Given the description of an element on the screen output the (x, y) to click on. 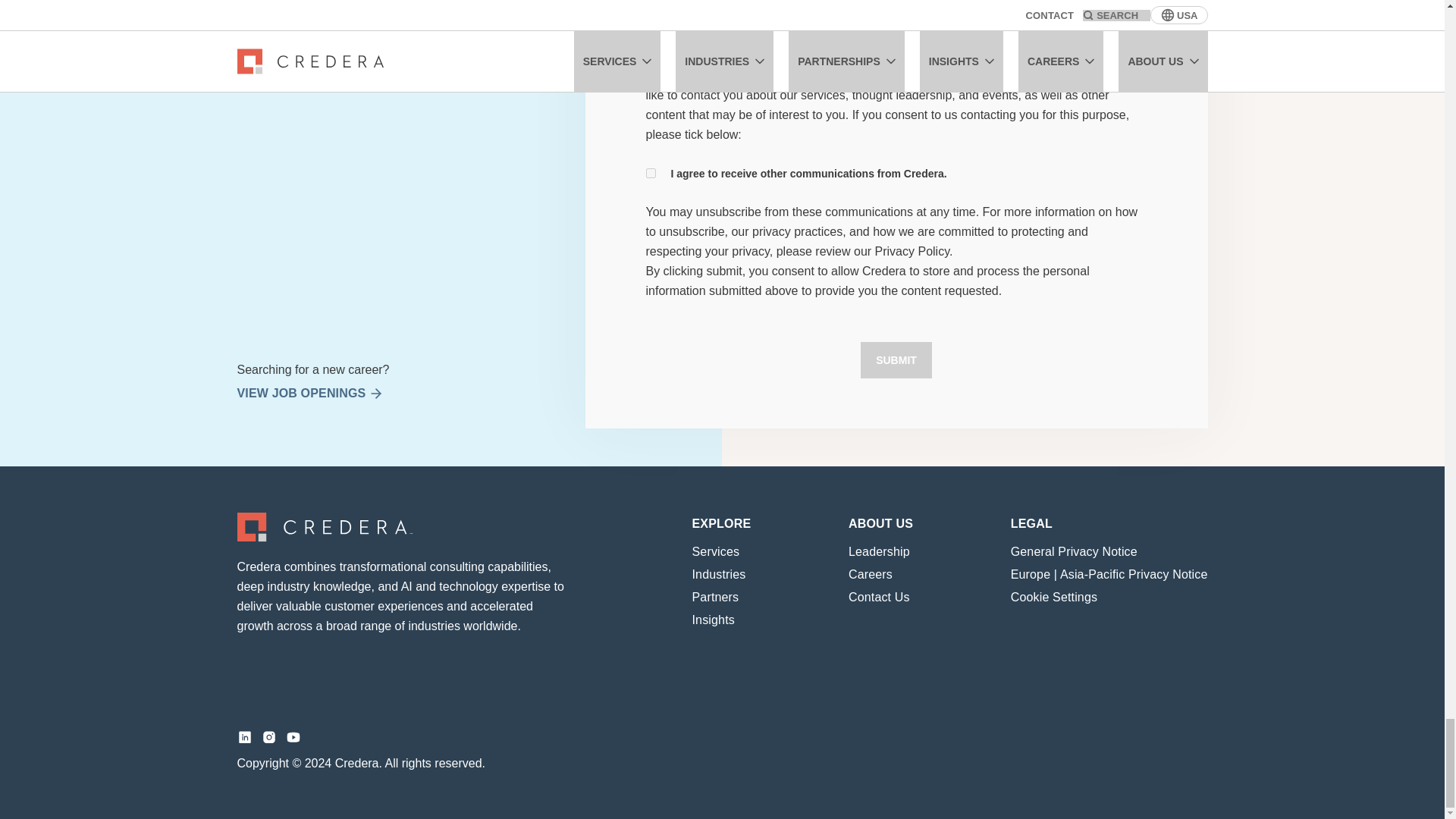
Submit (895, 360)
Youtube (292, 736)
true (651, 173)
LinkedIn (243, 736)
Instagram (268, 736)
TM (324, 526)
